Given the description of an element on the screen output the (x, y) to click on. 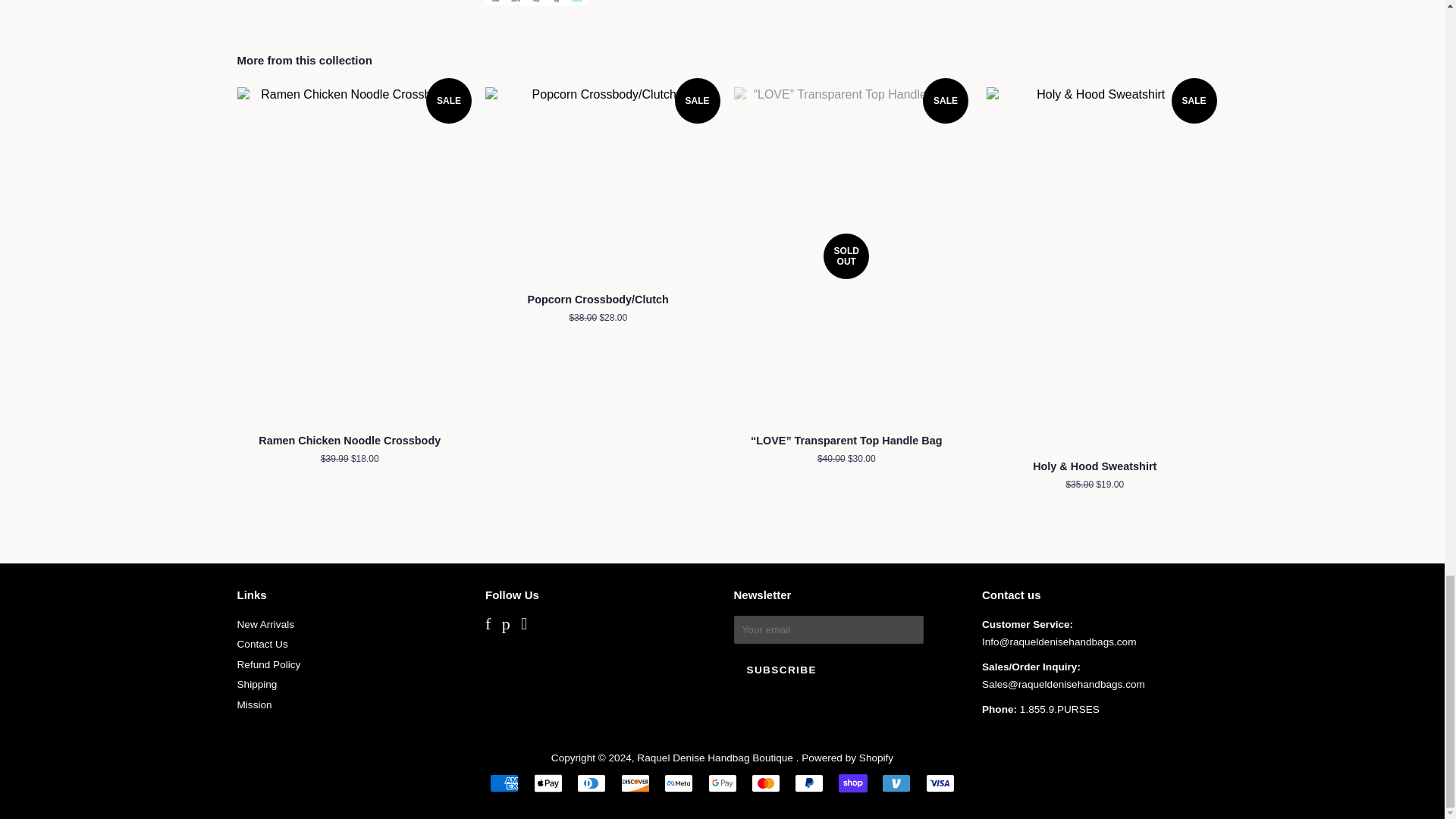
Shop Pay (852, 782)
Diners Club (590, 782)
PayPal (809, 782)
Meta Pay (678, 782)
Subscribe (781, 670)
Mastercard (765, 782)
Apple Pay (548, 782)
Visa (940, 782)
Discover (635, 782)
Google Pay (721, 782)
American Express (503, 782)
Venmo (896, 782)
